Given the description of an element on the screen output the (x, y) to click on. 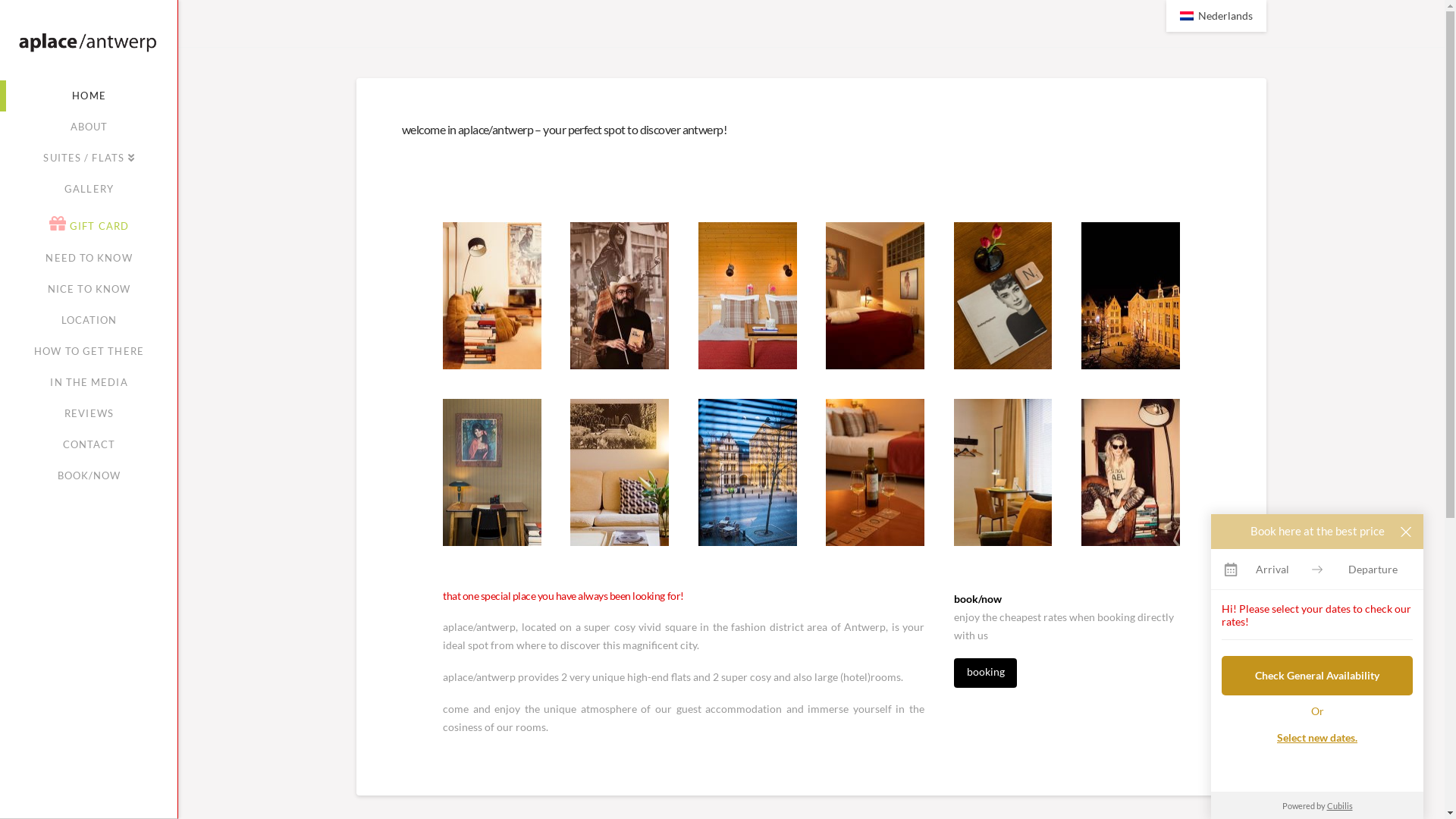
Check General Availability Element type: text (1316, 675)
REVIEWS Element type: text (88, 413)
BOOK/NOW Element type: text (88, 475)
CONTACT Element type: text (88, 444)
IN THE MEDIA Element type: text (88, 382)
GALLERY Element type: text (88, 188)
NEED TO KNOW Element type: text (88, 257)
Select new dates. Element type: text (1316, 737)
Overnachten in Antwerpen Element type: hover (88, 40)
GIFT CARD Element type: text (88, 223)
Nederlands Element type: text (1216, 15)
booking Element type: text (985, 672)
SUITES / FLATS Element type: text (88, 157)
HOME Element type: text (88, 95)
HOW TO GET THERE Element type: text (88, 351)
NICE TO KNOW Element type: text (88, 288)
Cubilis Element type: text (1339, 805)
ABOUT Element type: text (88, 126)
LOCATION Element type: text (88, 319)
